Given the description of an element on the screen output the (x, y) to click on. 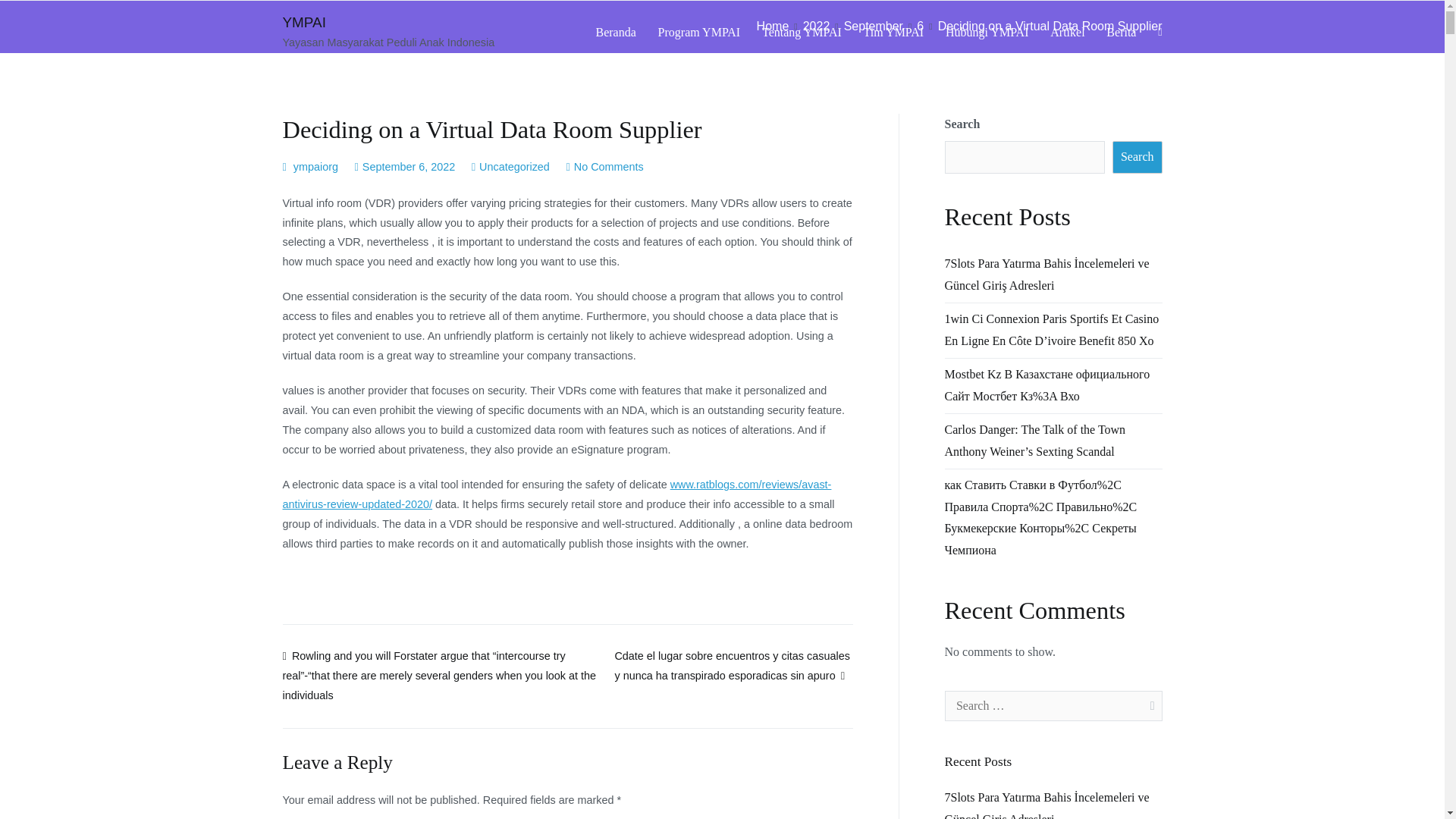
Beranda (615, 33)
September (873, 25)
Artikel (1066, 33)
2022 (816, 25)
Tim YMPAI (893, 33)
Uncategorized (514, 166)
September 6, 2022 (408, 166)
Hubungi YMPAI (986, 33)
YMPAI (303, 22)
